Given the description of an element on the screen output the (x, y) to click on. 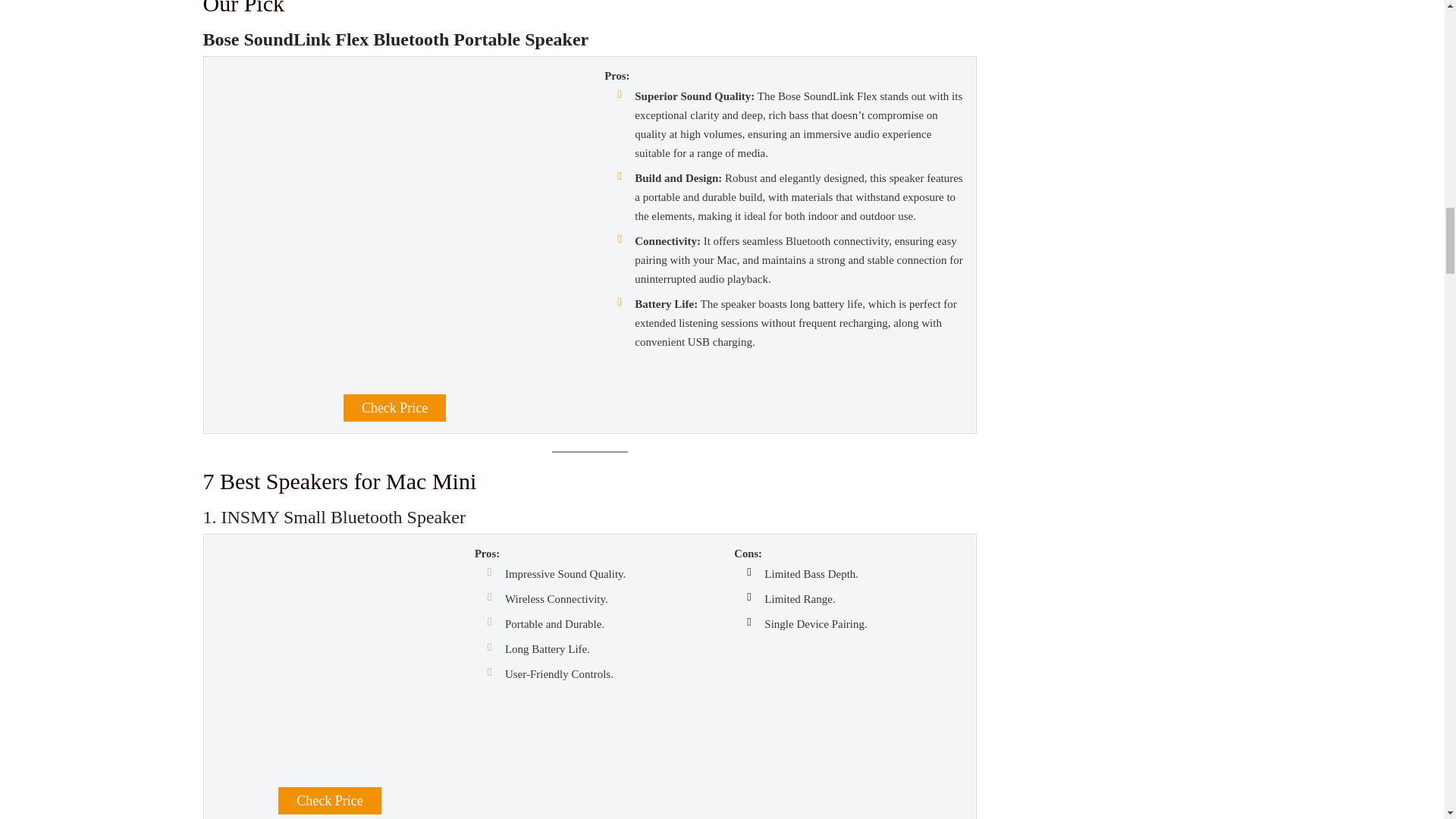
Check Amazon Price (329, 800)
Check Amazon Price (394, 407)
